Given the description of an element on the screen output the (x, y) to click on. 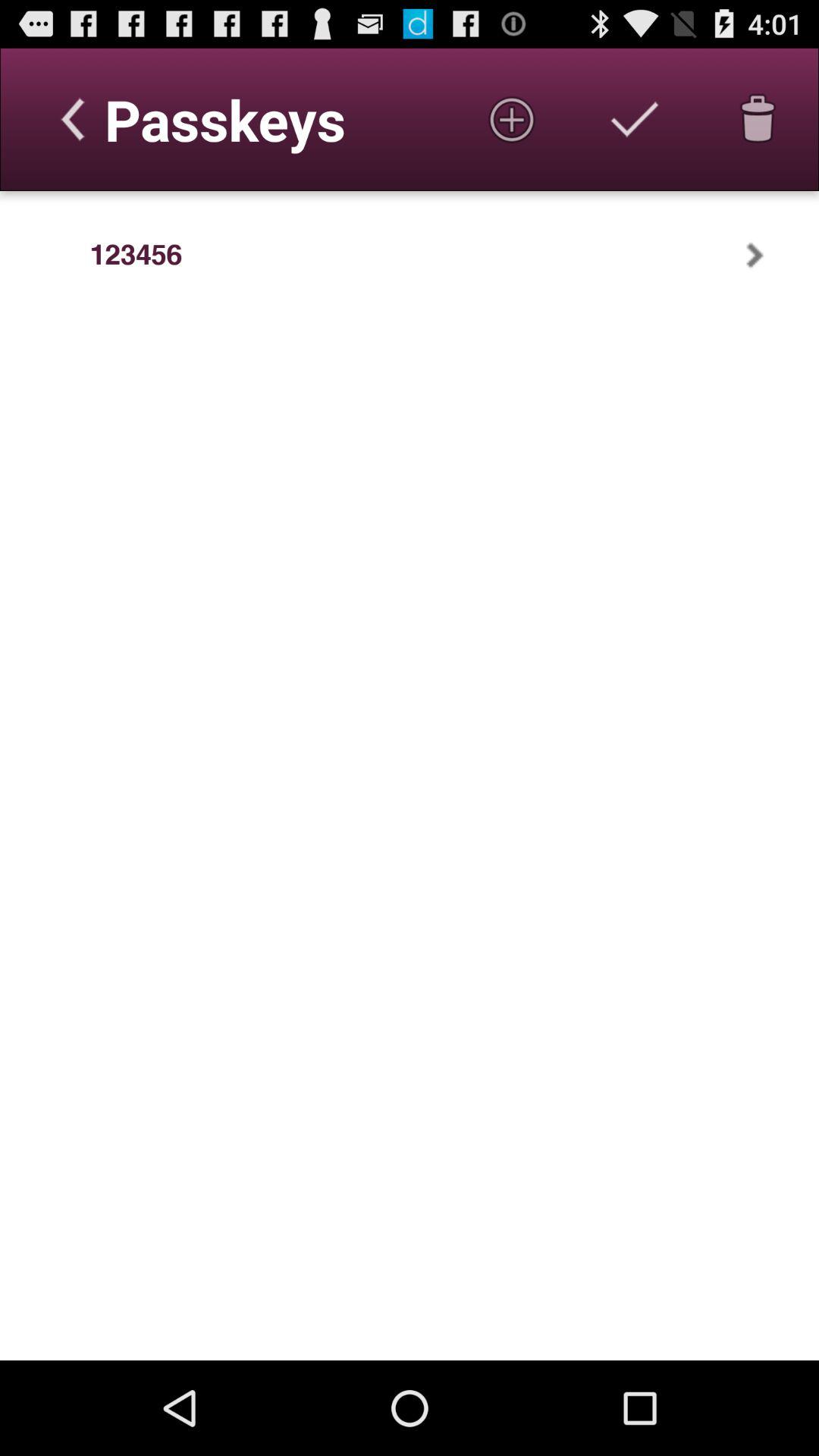
launch the item next to passkeys icon (511, 119)
